Given the description of an element on the screen output the (x, y) to click on. 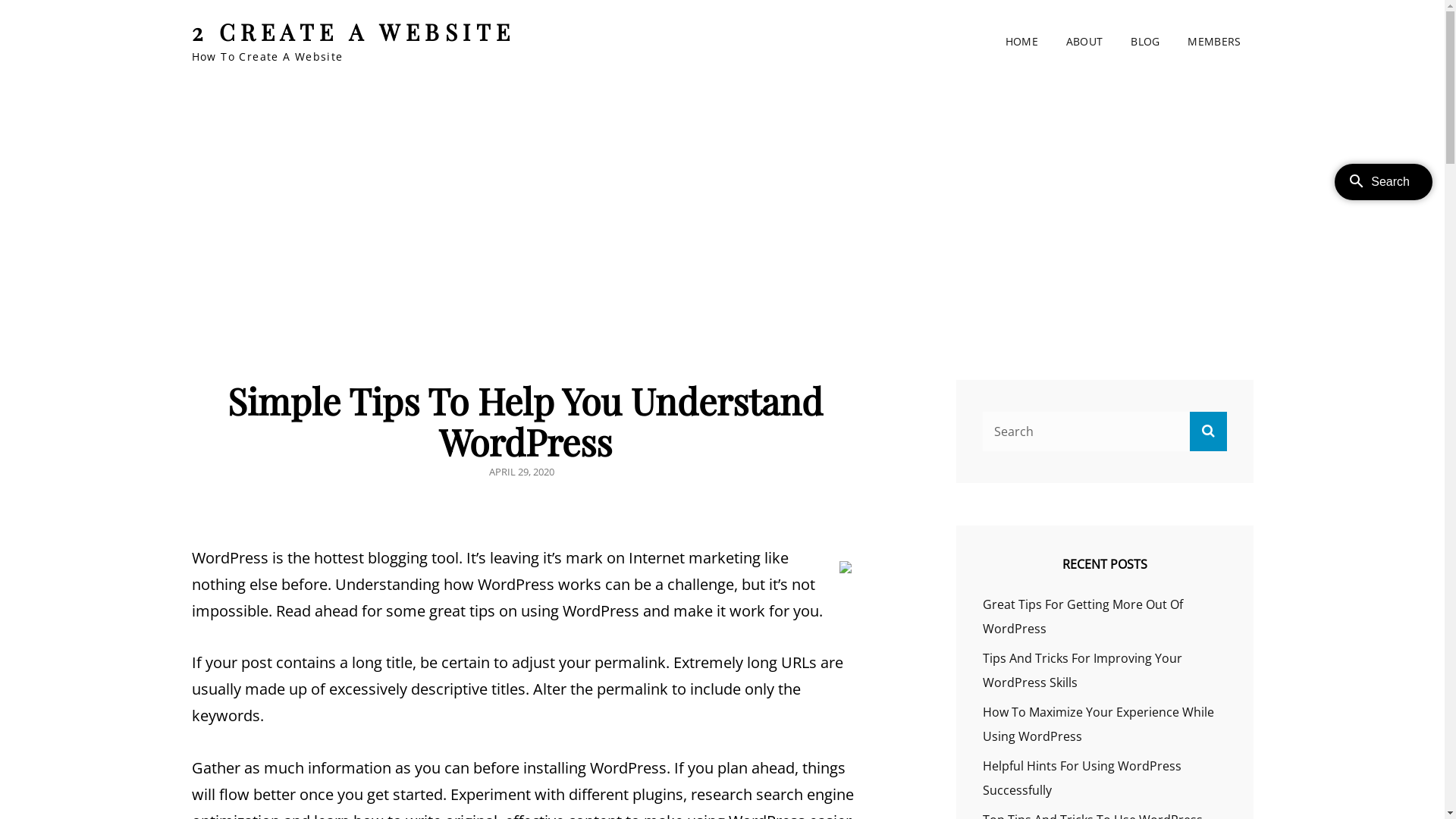
ABOUT Element type: text (1084, 41)
Great Tips For Getting More Out Of WordPress Element type: text (1082, 616)
Helpful Hints For Using WordPress Successfully Element type: text (1081, 777)
How To Maximize Your Experience While Using WordPress Element type: text (1098, 723)
HOME Element type: text (1021, 41)
Tips And Tricks For Improving Your WordPress Skills Element type: text (1082, 669)
APRIL 29, 2020 Element type: text (520, 471)
Advertisement Element type: hover (721, 198)
Search Element type: text (1207, 430)
MEMBERS Element type: text (1213, 41)
2 CREATE A WEBSITE Element type: text (352, 31)
BLOG Element type: text (1144, 41)
